Given the description of an element on the screen output the (x, y) to click on. 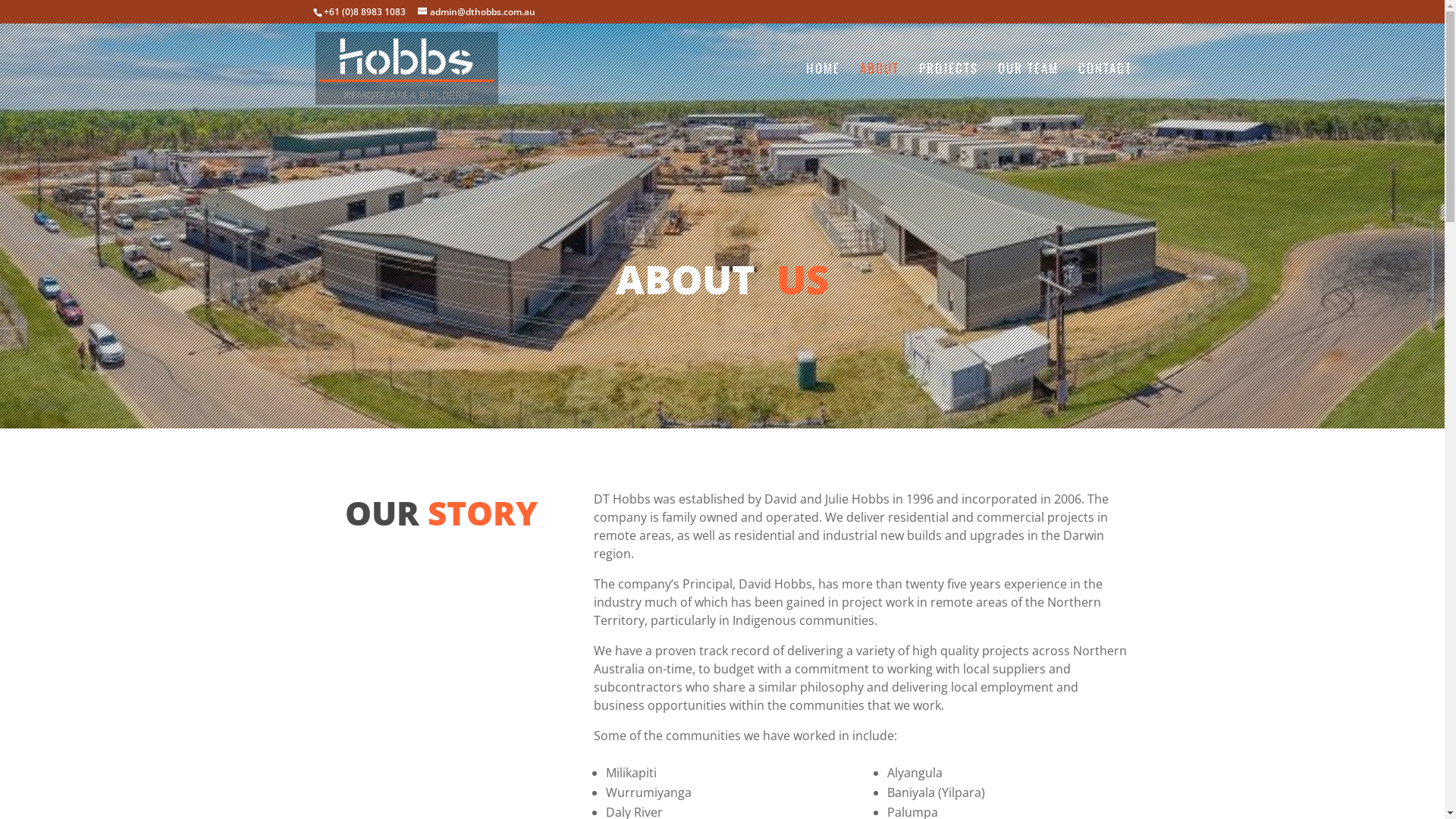
ABOUT Element type: text (879, 87)
HOME Element type: text (822, 87)
admin@dthobbs.com.au Element type: text (475, 11)
CONTACT Element type: text (1105, 87)
PROJECTS Element type: text (948, 87)
OUR TEAM Element type: text (1027, 87)
